Given the description of an element on the screen output the (x, y) to click on. 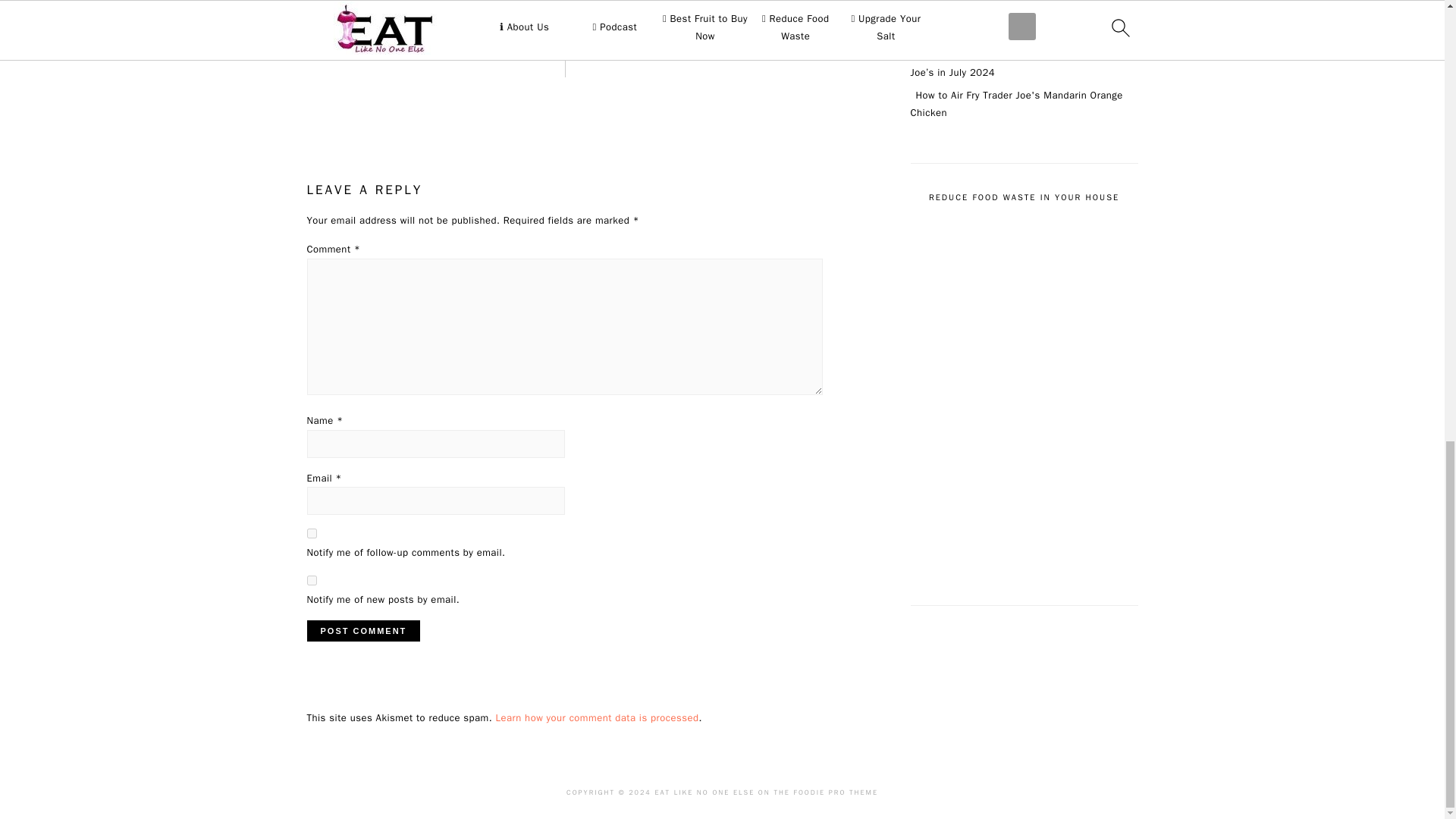
subscribe (310, 533)
subscribe (310, 580)
Post Comment (362, 630)
